Given the description of an element on the screen output the (x, y) to click on. 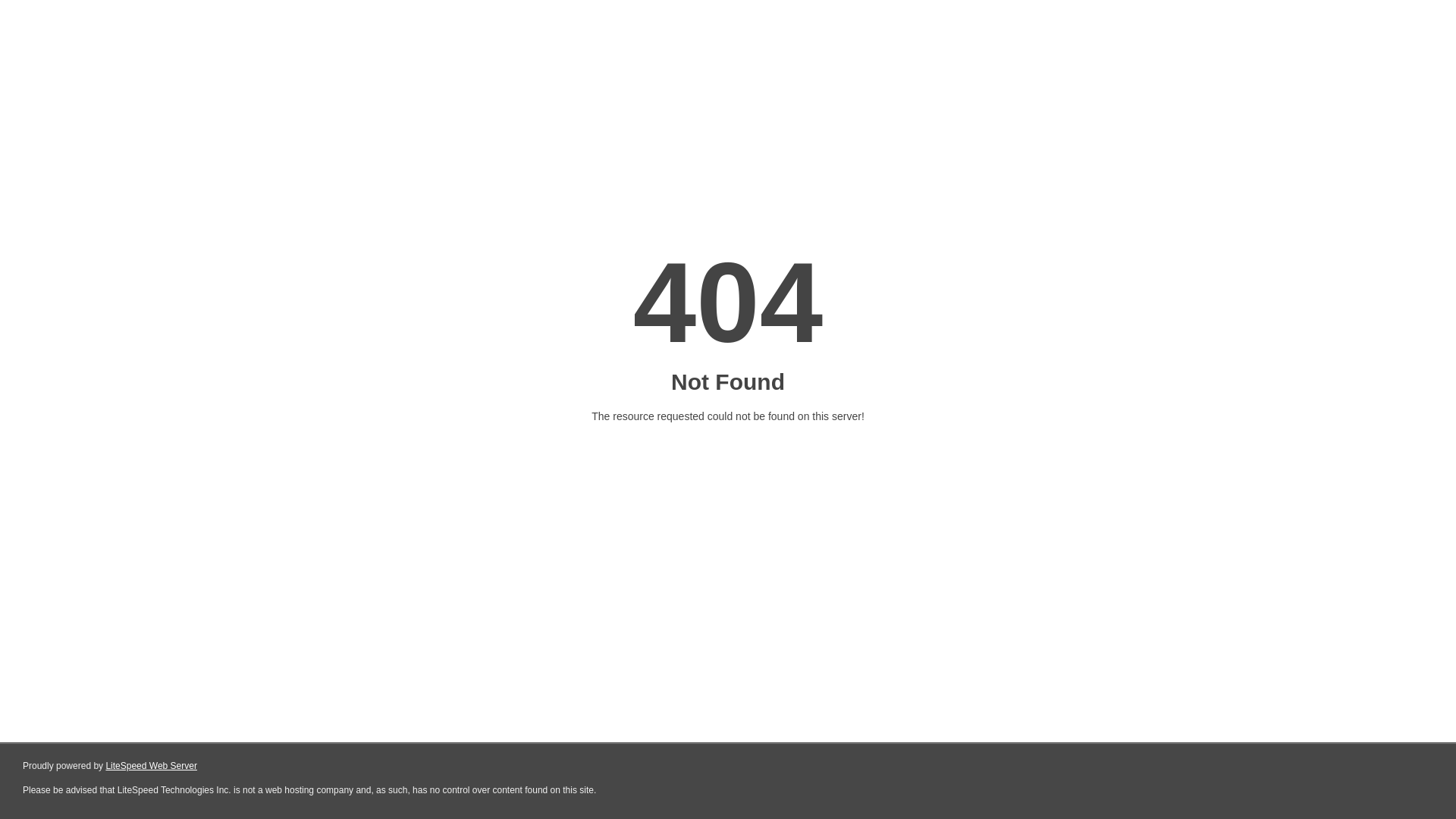
LiteSpeed Web Server Element type: text (151, 765)
